Given the description of an element on the screen output the (x, y) to click on. 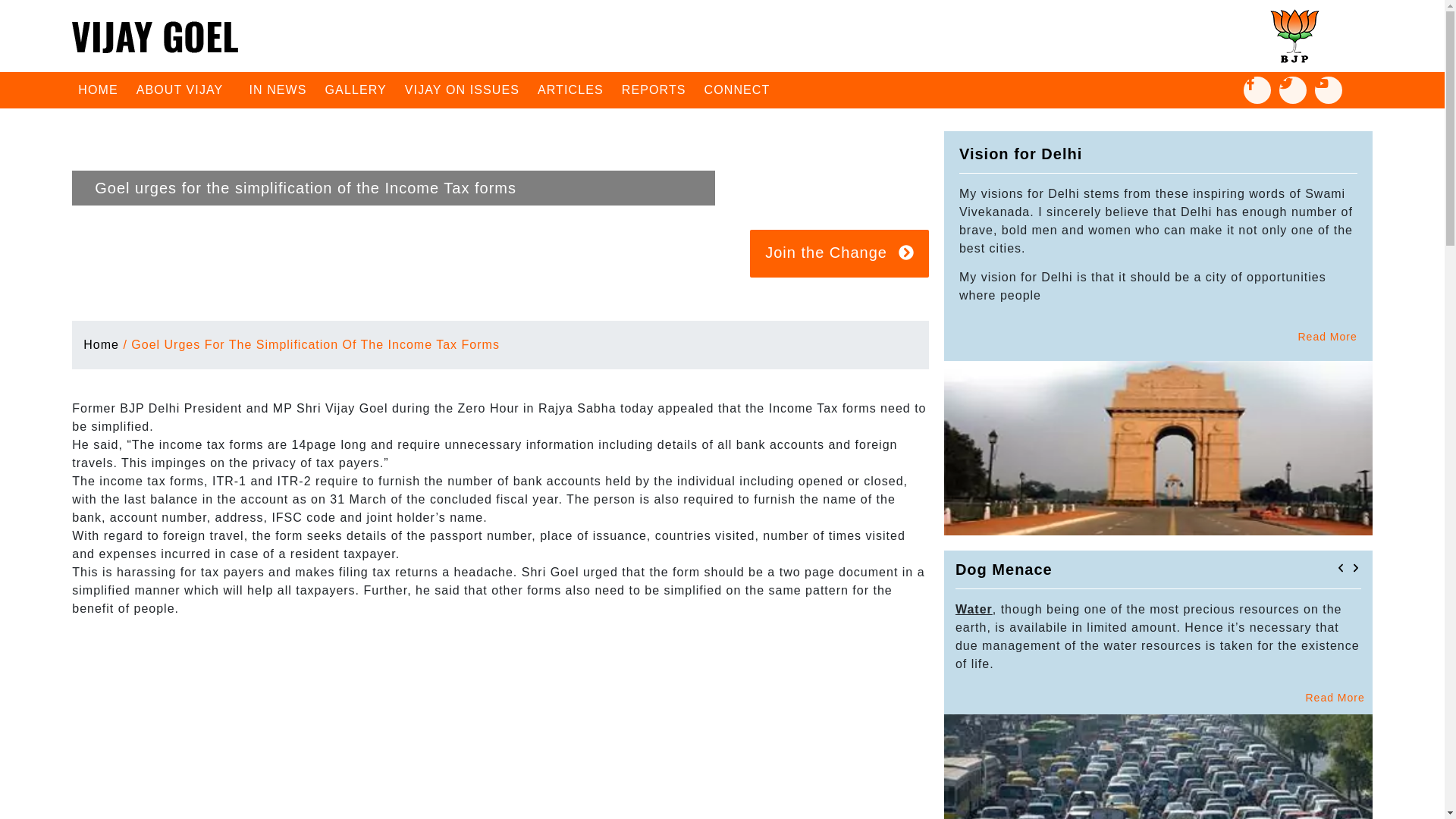
HOME (97, 90)
GALLERY (355, 90)
VIJAY ON ISSUES (461, 90)
ABOUT VIJAY (184, 90)
REPORTS (654, 90)
IN NEWS (278, 90)
ARTICLES (570, 90)
CONNECT (737, 90)
